Given the description of an element on the screen output the (x, y) to click on. 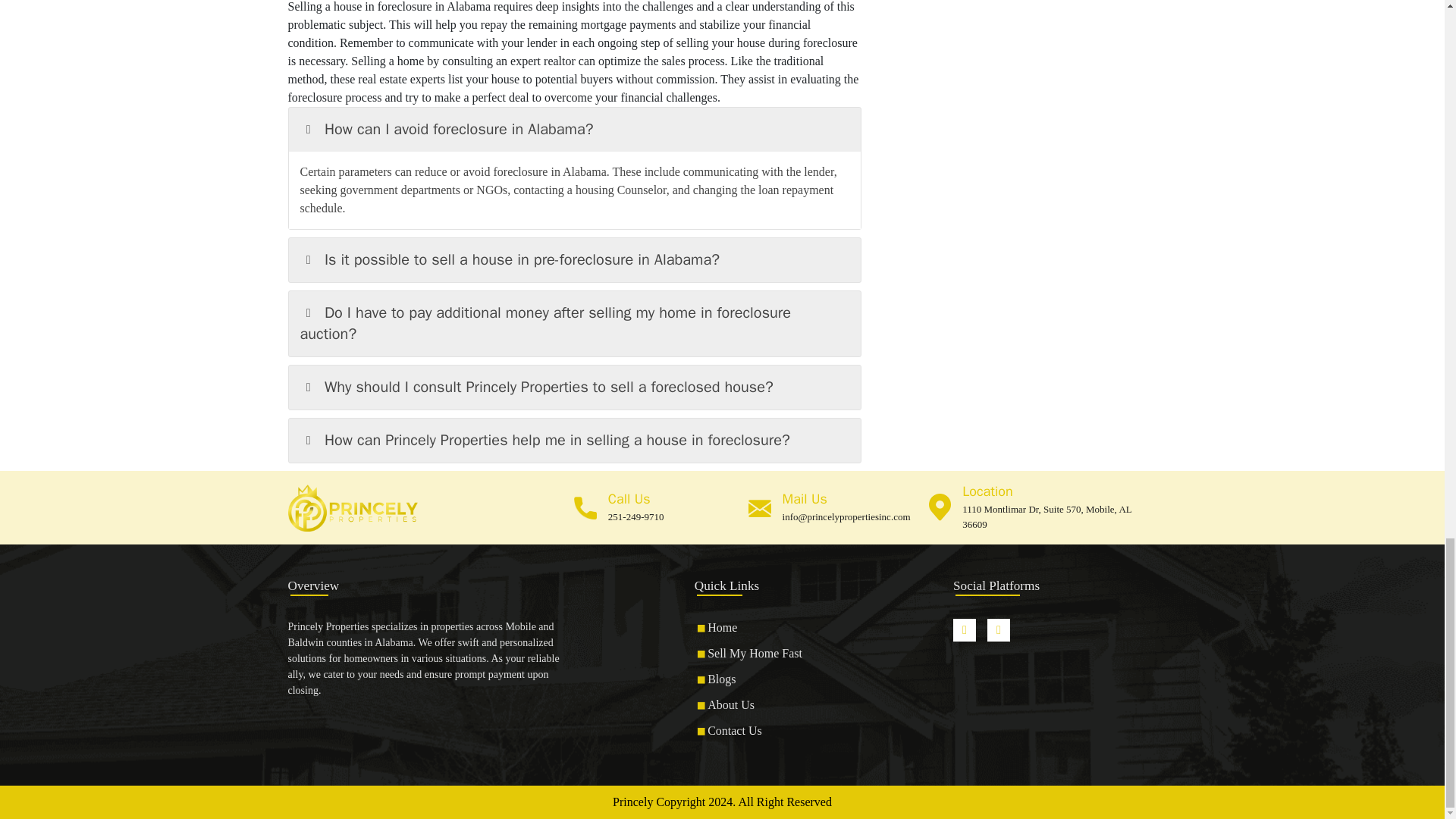
Blogs (721, 678)
About Us (730, 704)
Sell My Home Fast (754, 653)
Contact Us (734, 730)
Home (721, 626)
How can I avoid foreclosure in Alabama? (574, 129)
